Given the description of an element on the screen output the (x, y) to click on. 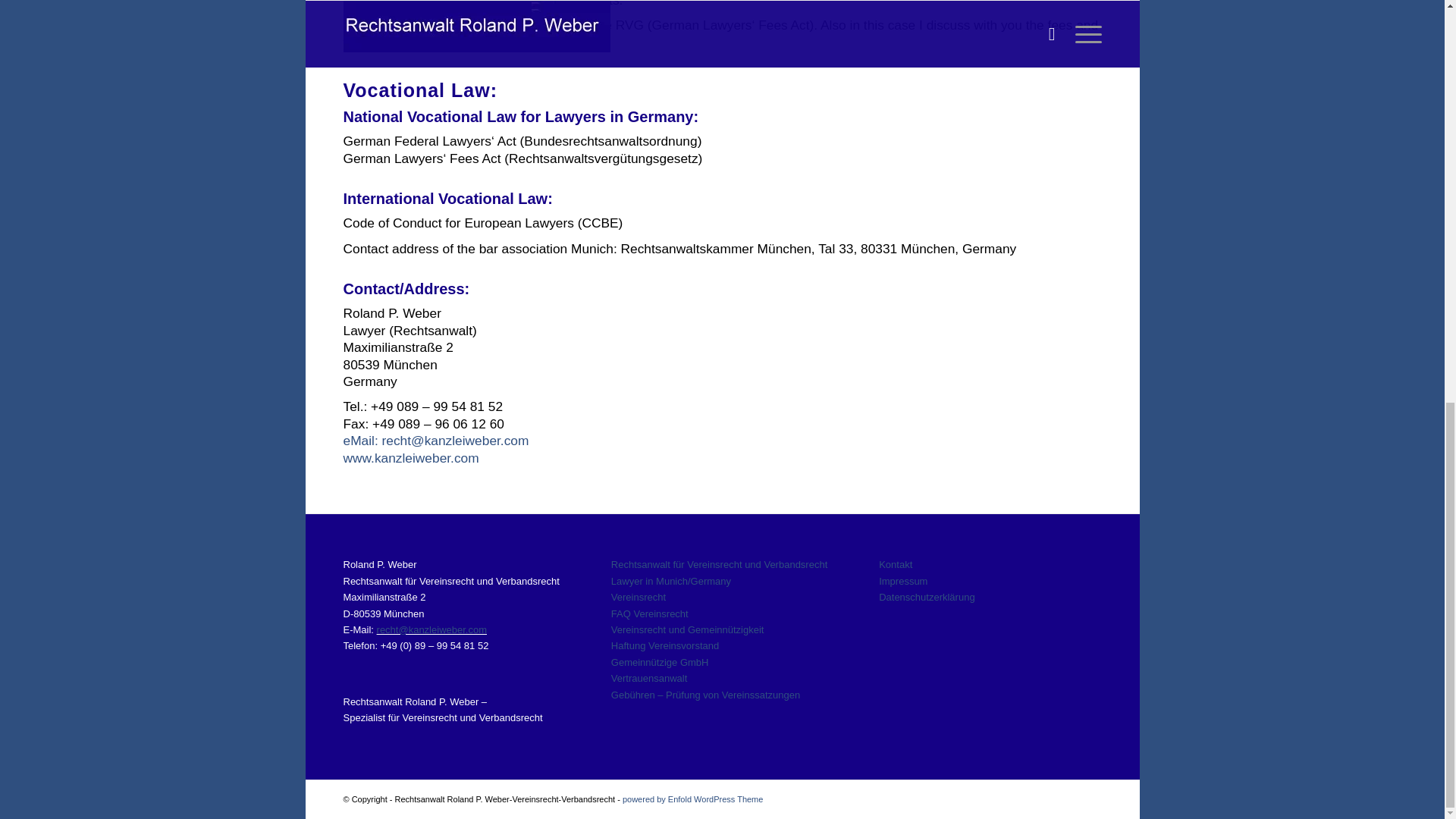
FAQ Vereinsrecht (649, 613)
Vereinsrecht (638, 596)
www.kanzleiweber.com (410, 458)
Vertrauensanwalt (649, 677)
powered by Enfold WordPress Theme (692, 798)
Haftung Vereinsvorstand (665, 645)
